Given the description of an element on the screen output the (x, y) to click on. 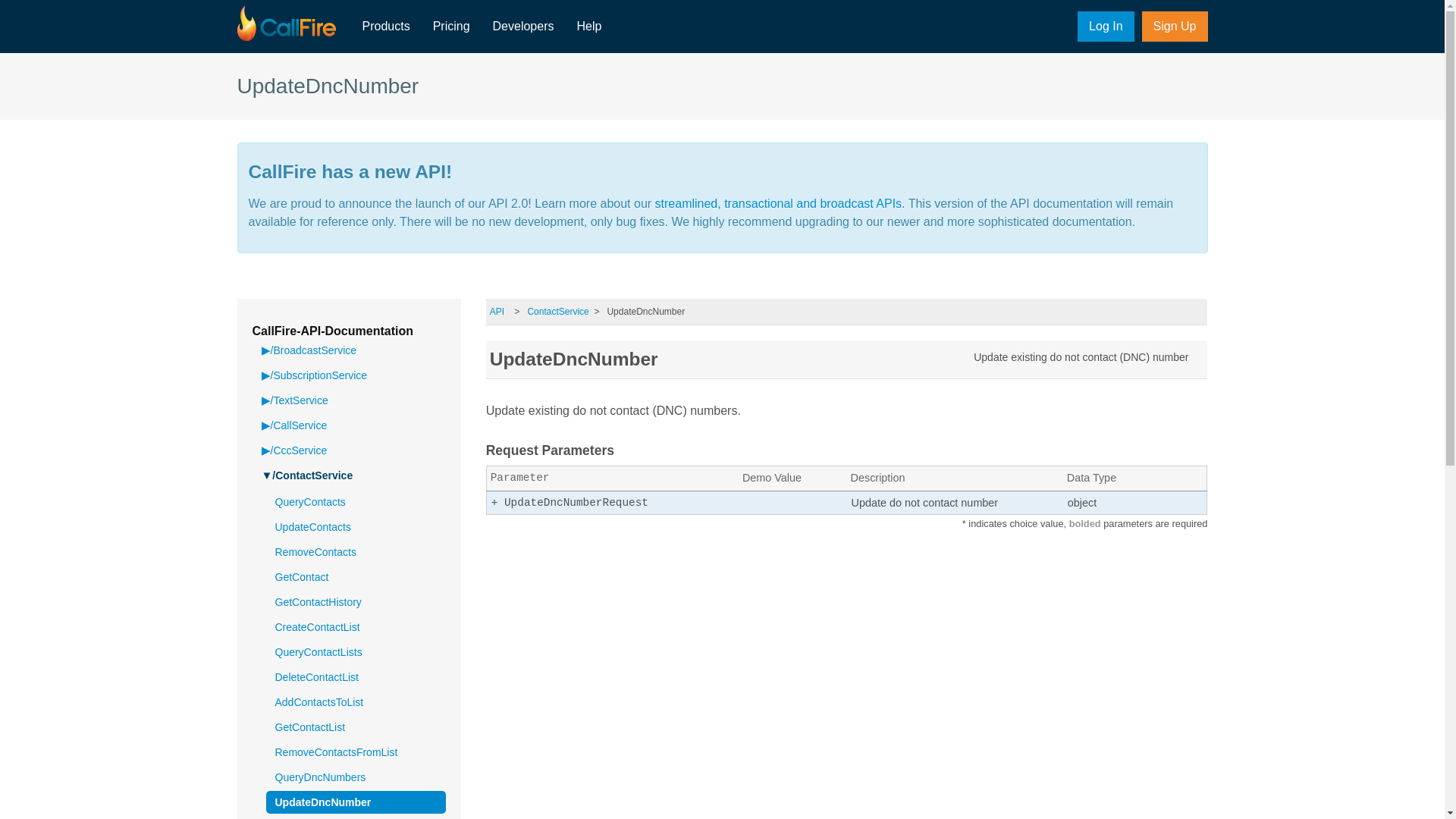
streamlined, transactional and broadcast APIs (778, 203)
Join the Club (1174, 26)
Developers (523, 26)
Callfire Knowledgebase (588, 26)
Products (385, 26)
CallFire - Your Message Delivered (285, 23)
Pricing (451, 26)
Help (588, 26)
CallFire Login (1105, 26)
Log In (1105, 26)
Sign Up (1174, 26)
CallFire-API-Documentation (331, 330)
